Given the description of an element on the screen output the (x, y) to click on. 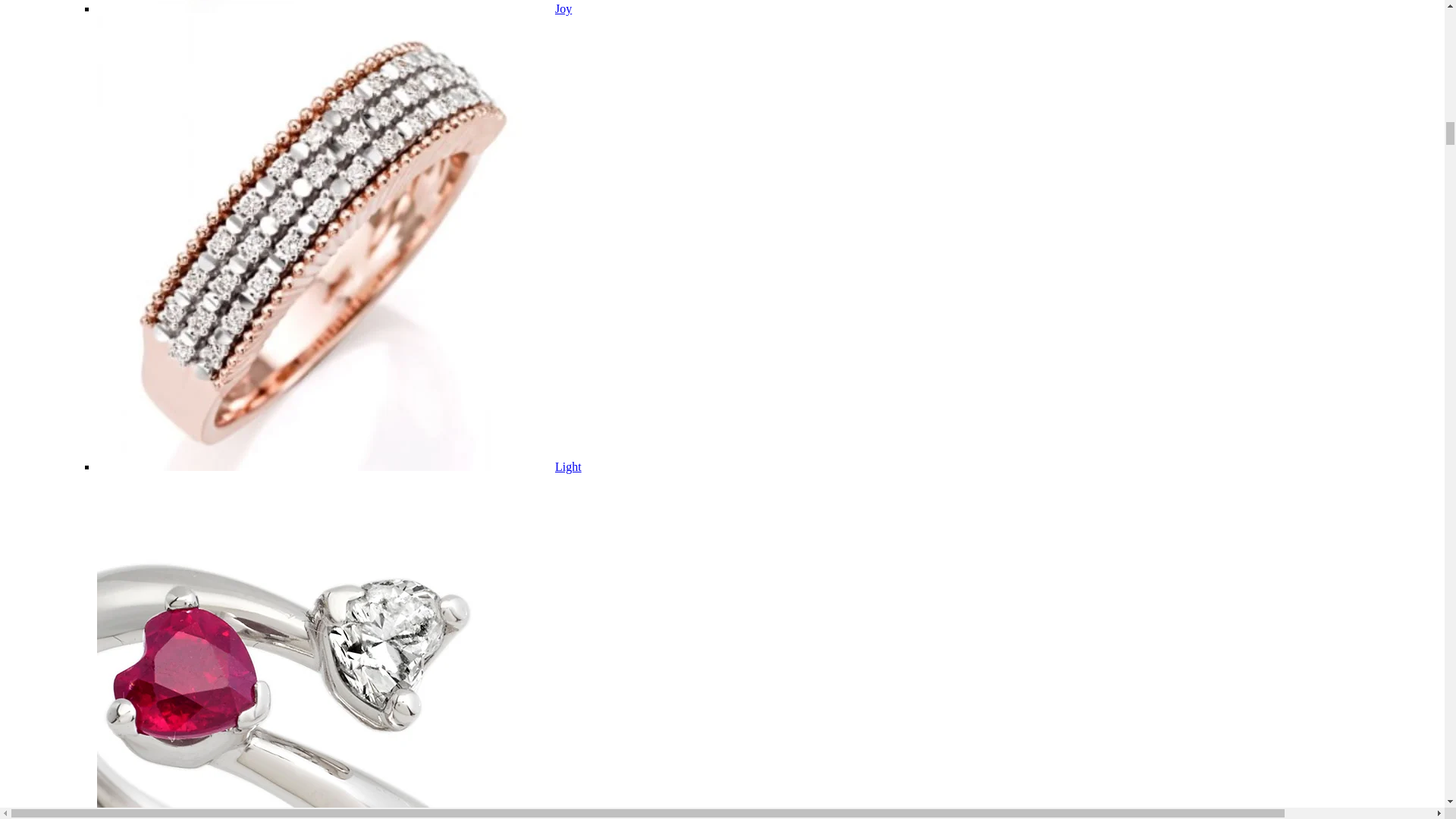
Joy (563, 8)
Light (567, 466)
